Given the description of an element on the screen output the (x, y) to click on. 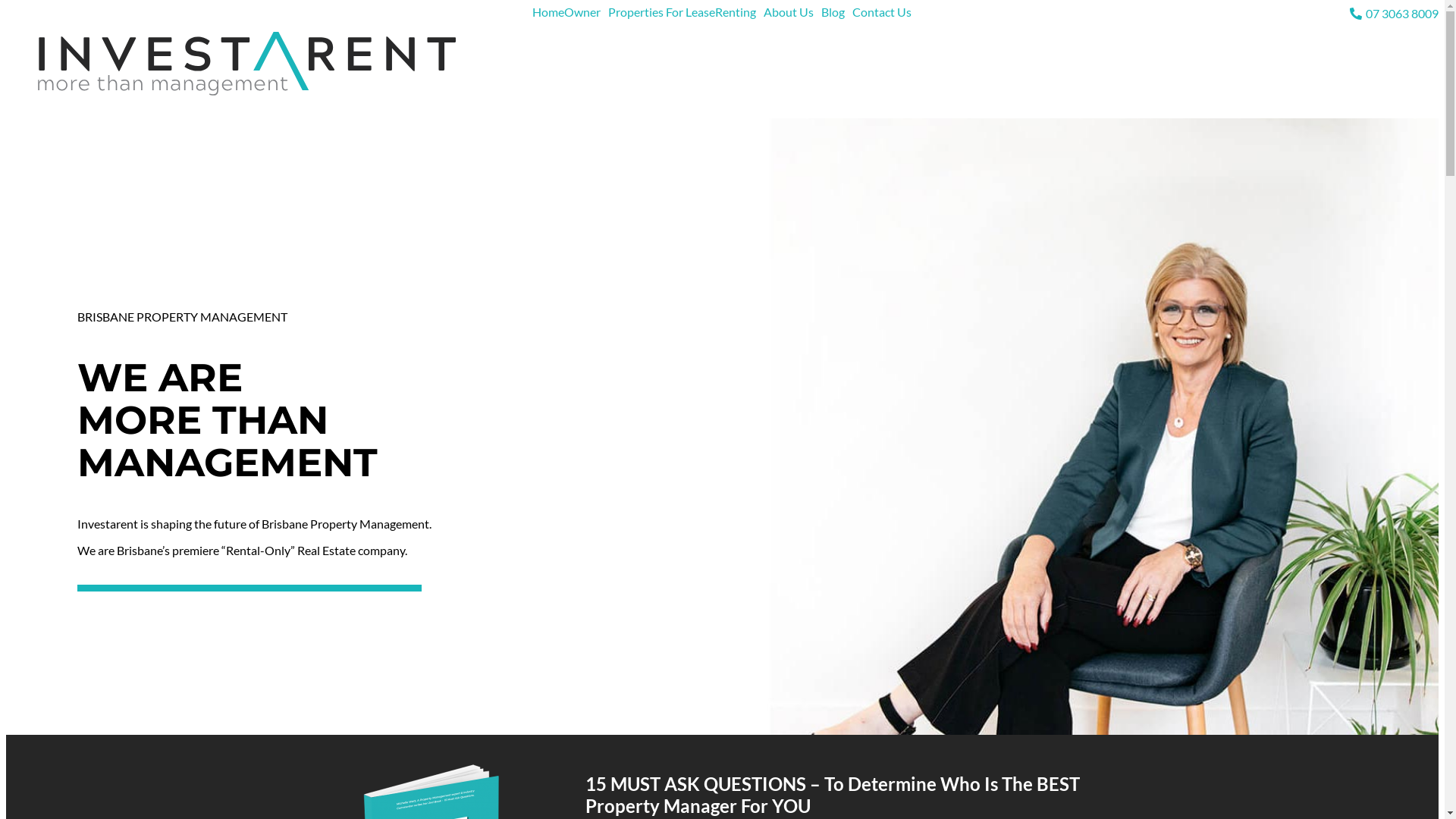
Blog Element type: text (836, 12)
About Us Element type: text (792, 12)
Renting Element type: text (739, 12)
Contact Us Element type: text (881, 12)
07 3063 8009 Element type: text (1199, 13)
Properties For Lease Element type: text (661, 12)
Home Element type: text (548, 12)
Owner Element type: text (586, 12)
